Given the description of an element on the screen output the (x, y) to click on. 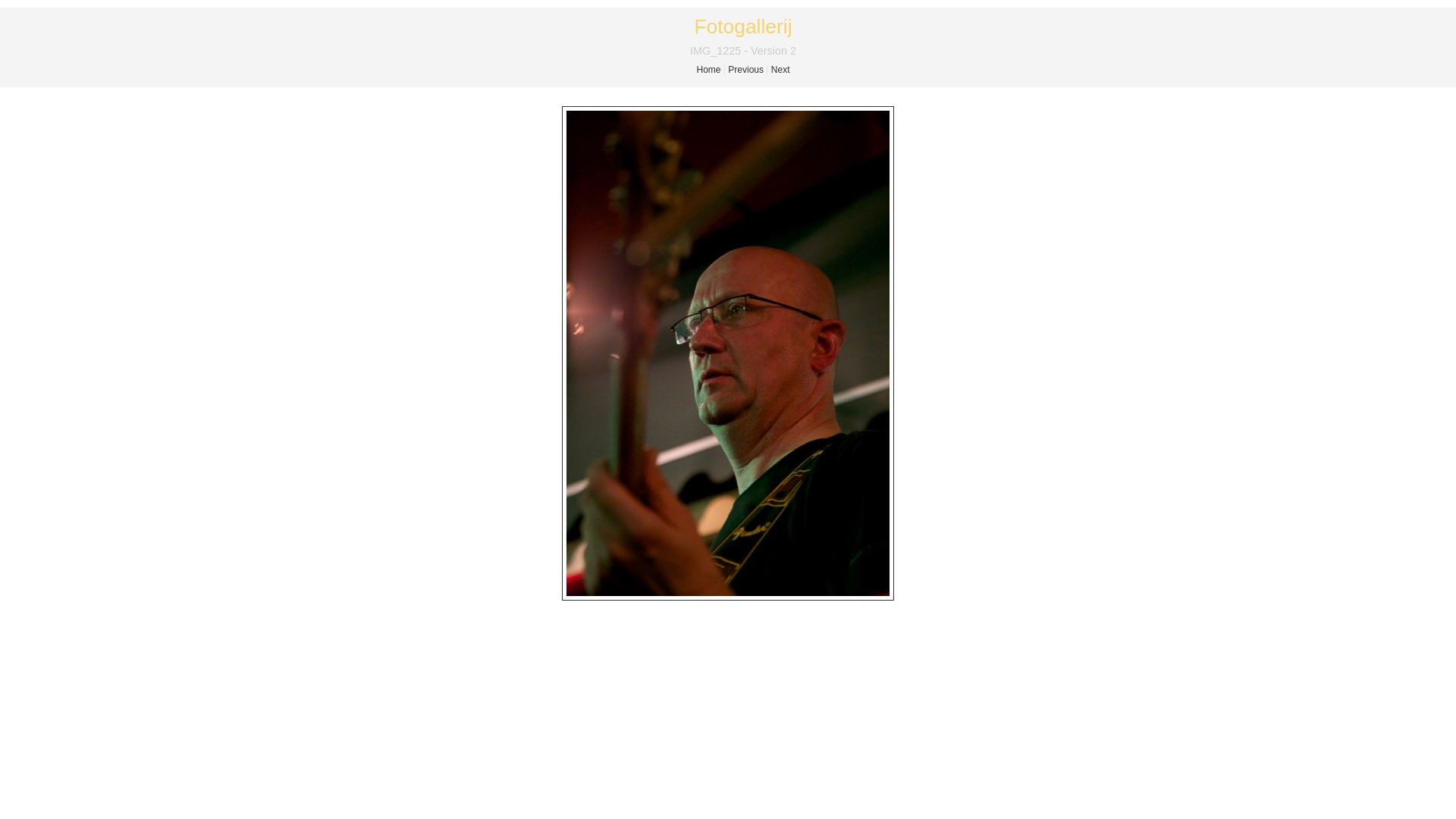
Home Element type: text (708, 69)
Next Element type: text (780, 69)
Previous Element type: text (745, 69)
